Given the description of an element on the screen output the (x, y) to click on. 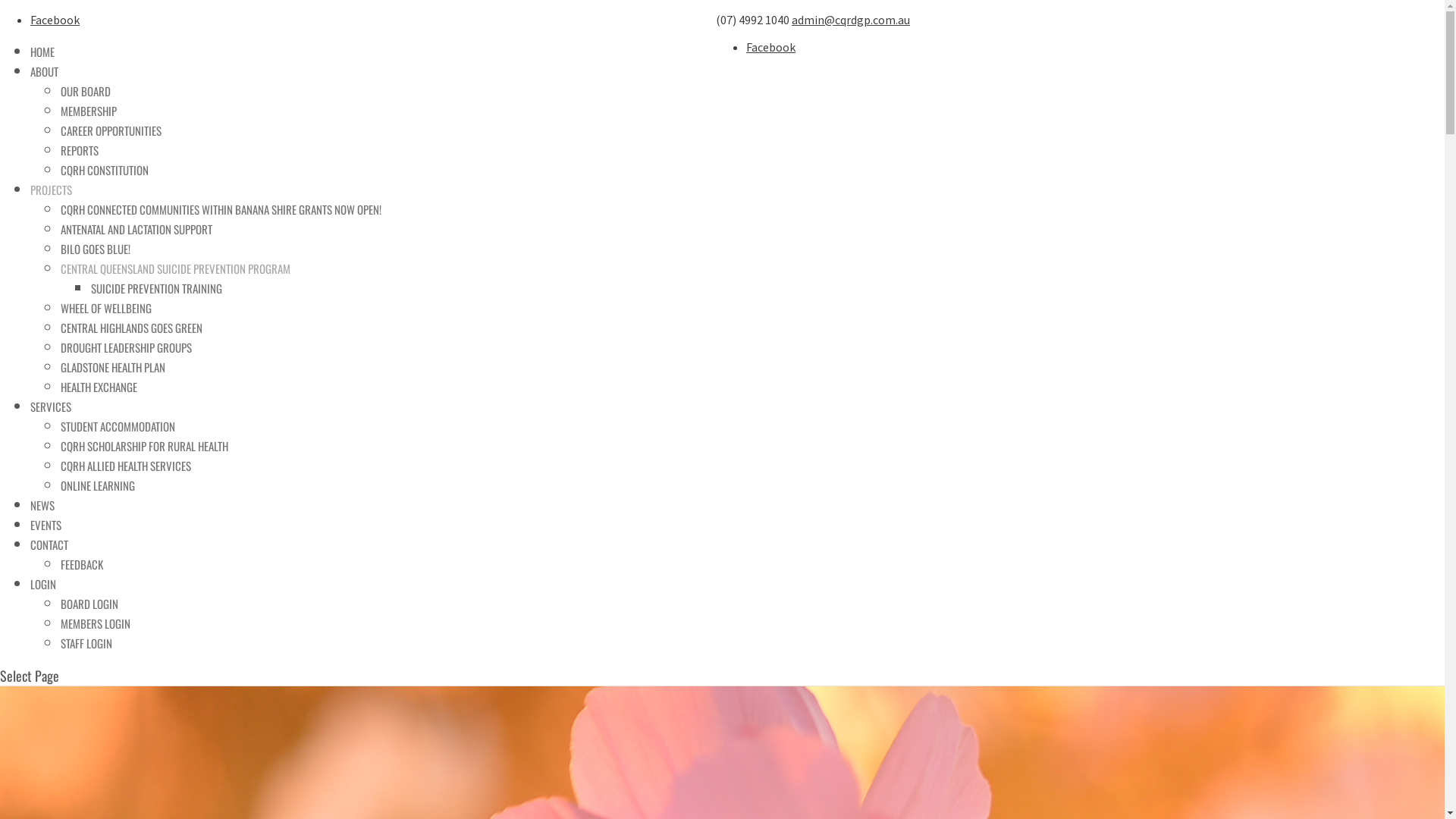
CQRH CONSTITUTION Element type: text (104, 169)
ABOUT Element type: text (44, 70)
MEMBERSHIP Element type: text (88, 110)
MEMBERS LOGIN Element type: text (95, 623)
WHEEL OF WELLBEING Element type: text (105, 307)
HOME Element type: text (42, 51)
REPORTS Element type: text (79, 149)
CQRH ALLIED HEALTH SERVICES Element type: text (125, 465)
SUICIDE PREVENTION TRAINING Element type: text (156, 287)
admin@cqrdgp.com.au Element type: text (850, 19)
EVENTS Element type: text (45, 524)
LOGIN Element type: text (43, 583)
STUDENT ACCOMMODATION Element type: text (117, 425)
BILO GOES BLUE! Element type: text (95, 248)
CENTRAL HIGHLANDS GOES GREEN Element type: text (131, 327)
ONLINE LEARNING Element type: text (97, 484)
CONTACT Element type: text (49, 544)
OUR BOARD Element type: text (85, 90)
STAFF LOGIN Element type: text (86, 642)
NEWS Element type: text (42, 504)
GLADSTONE HEALTH PLAN Element type: text (112, 366)
HEALTH EXCHANGE Element type: text (98, 386)
Facebook Element type: text (54, 19)
ANTENATAL AND LACTATION SUPPORT Element type: text (136, 228)
DROUGHT LEADERSHIP GROUPS Element type: text (125, 346)
BOARD LOGIN Element type: text (89, 603)
CQRH SCHOLARSHIP FOR RURAL HEALTH Element type: text (144, 445)
Facebook Element type: text (770, 46)
FEEDBACK Element type: text (81, 563)
SERVICES Element type: text (50, 406)
CAREER OPPORTUNITIES Element type: text (110, 130)
CENTRAL QUEENSLAND SUICIDE PREVENTION PROGRAM Element type: text (175, 268)
PROJECTS Element type: text (51, 189)
